Given the description of an element on the screen output the (x, y) to click on. 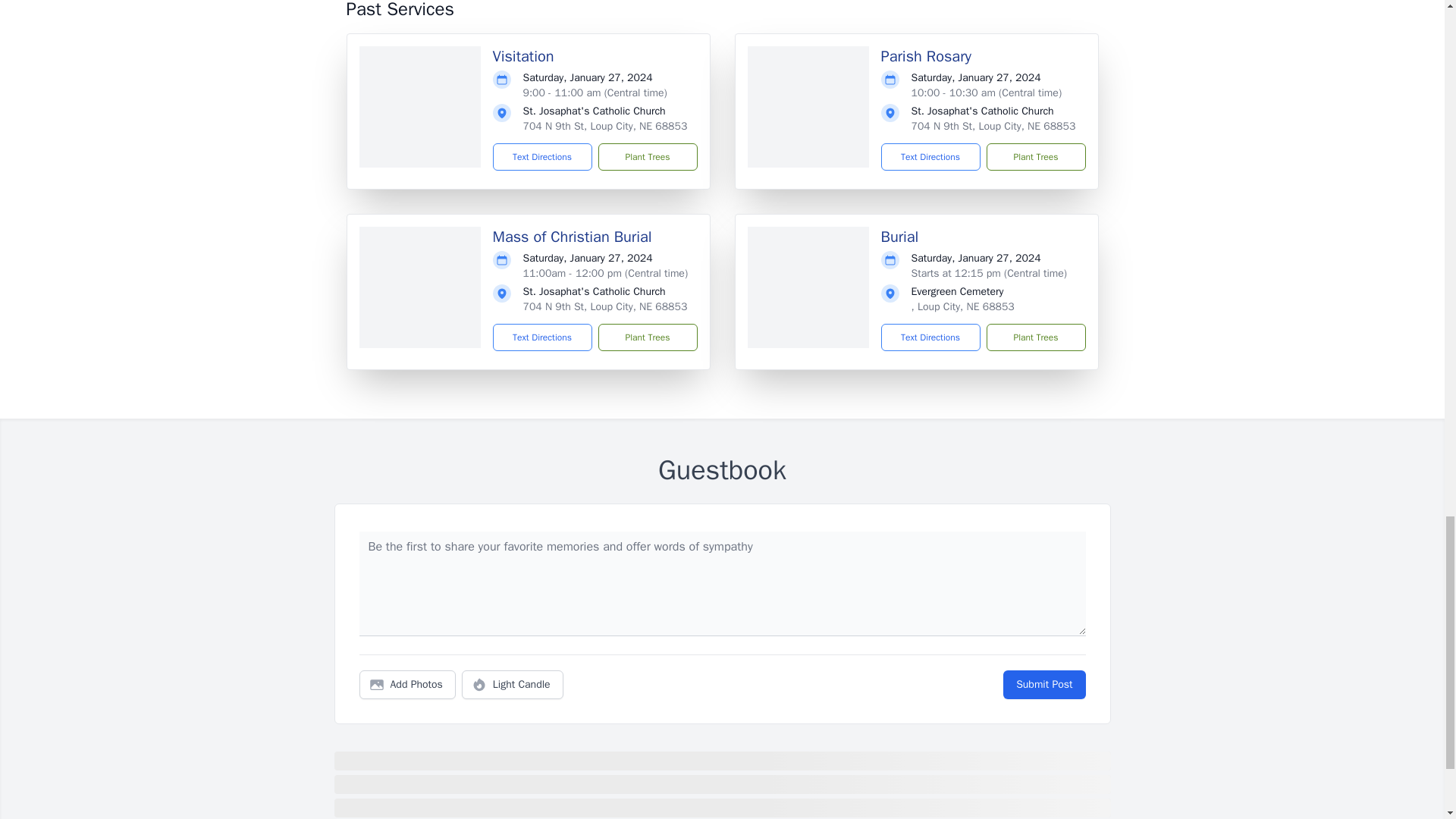
Plant Trees (1034, 337)
Text Directions (542, 337)
Plant Trees (1034, 156)
Plant Trees (646, 337)
Plant Trees (646, 156)
704 N 9th St, Loup City, NE 68853 (604, 306)
Text Directions (929, 337)
, Loup City, NE 68853 (962, 306)
Text Directions (542, 156)
704 N 9th St, Loup City, NE 68853 (604, 125)
